Given the description of an element on the screen output the (x, y) to click on. 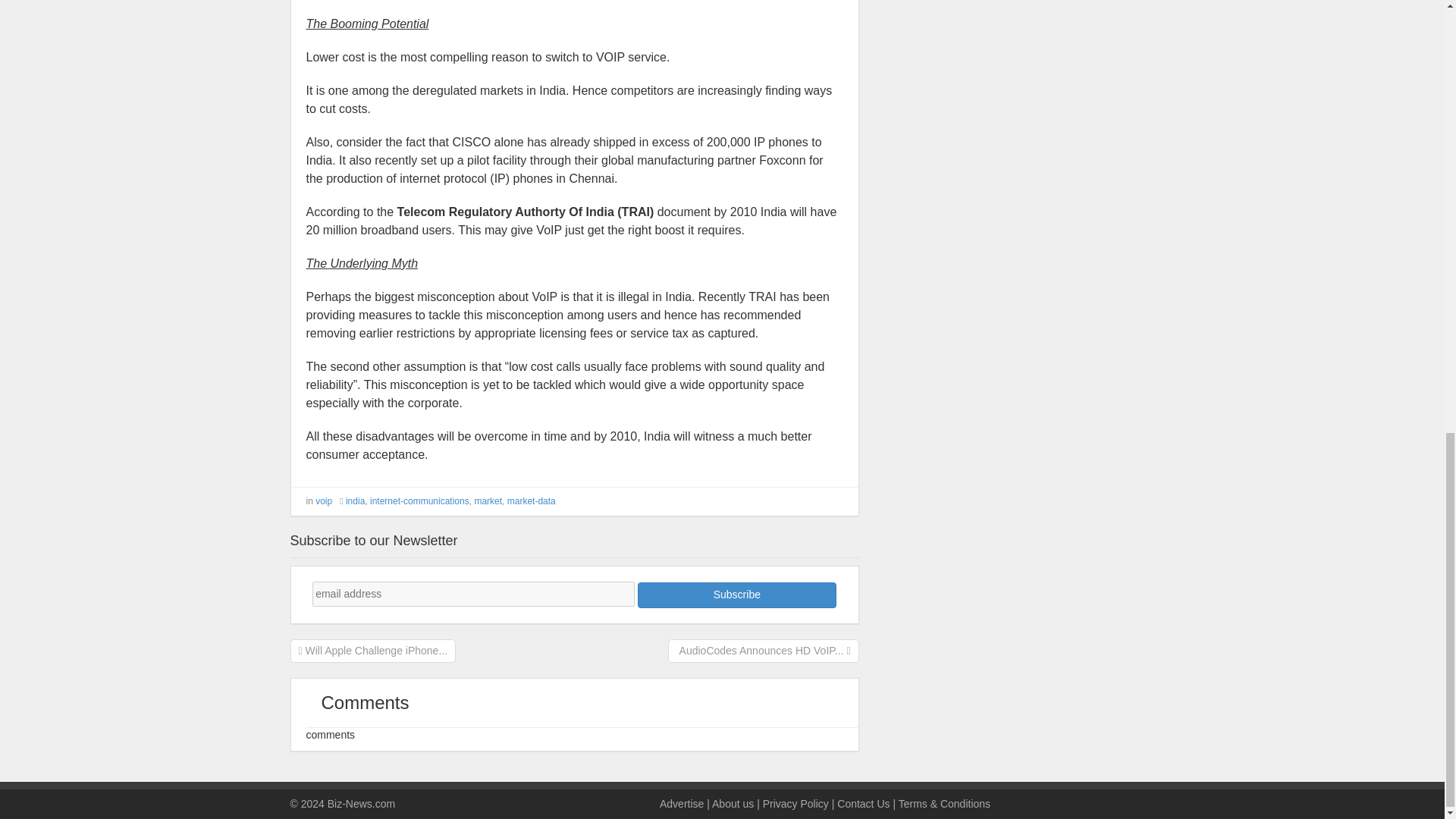
market-data (531, 501)
Subscribe (736, 595)
Privacy Policy (795, 803)
market (488, 501)
 Will Apple Challenge iPhone... (373, 649)
india (355, 501)
Contact Us (863, 803)
 AudioCodes Announces HD VoIP...  (763, 649)
voip (323, 501)
internet-communications (418, 501)
About us (732, 803)
Advertise (681, 803)
Subscribe (736, 595)
